Given the description of an element on the screen output the (x, y) to click on. 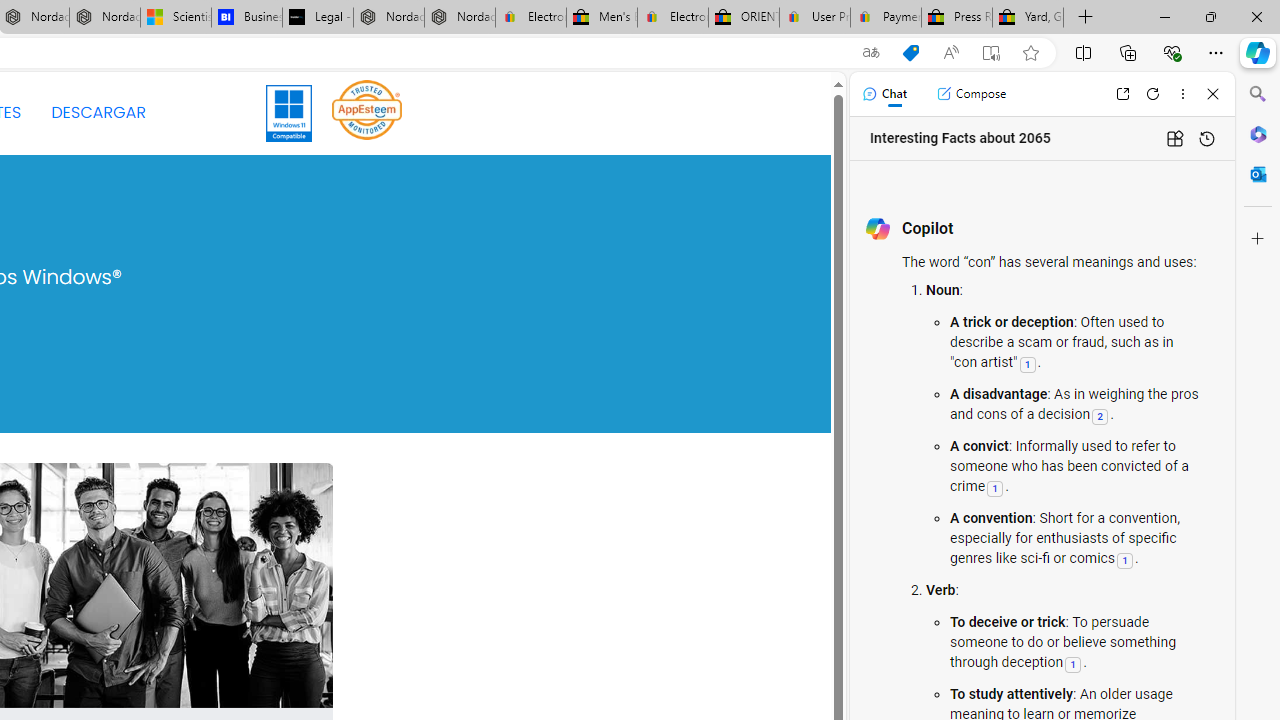
Show translate options (870, 53)
Chat (884, 93)
Yard, Garden & Outdoor Living (1028, 17)
Electronics, Cars, Fashion, Collectibles & More | eBay (672, 17)
Windows 11 (289, 112)
Payments Terms of Use | eBay.com (886, 17)
DESCARGAR (98, 112)
